Given the description of an element on the screen output the (x, y) to click on. 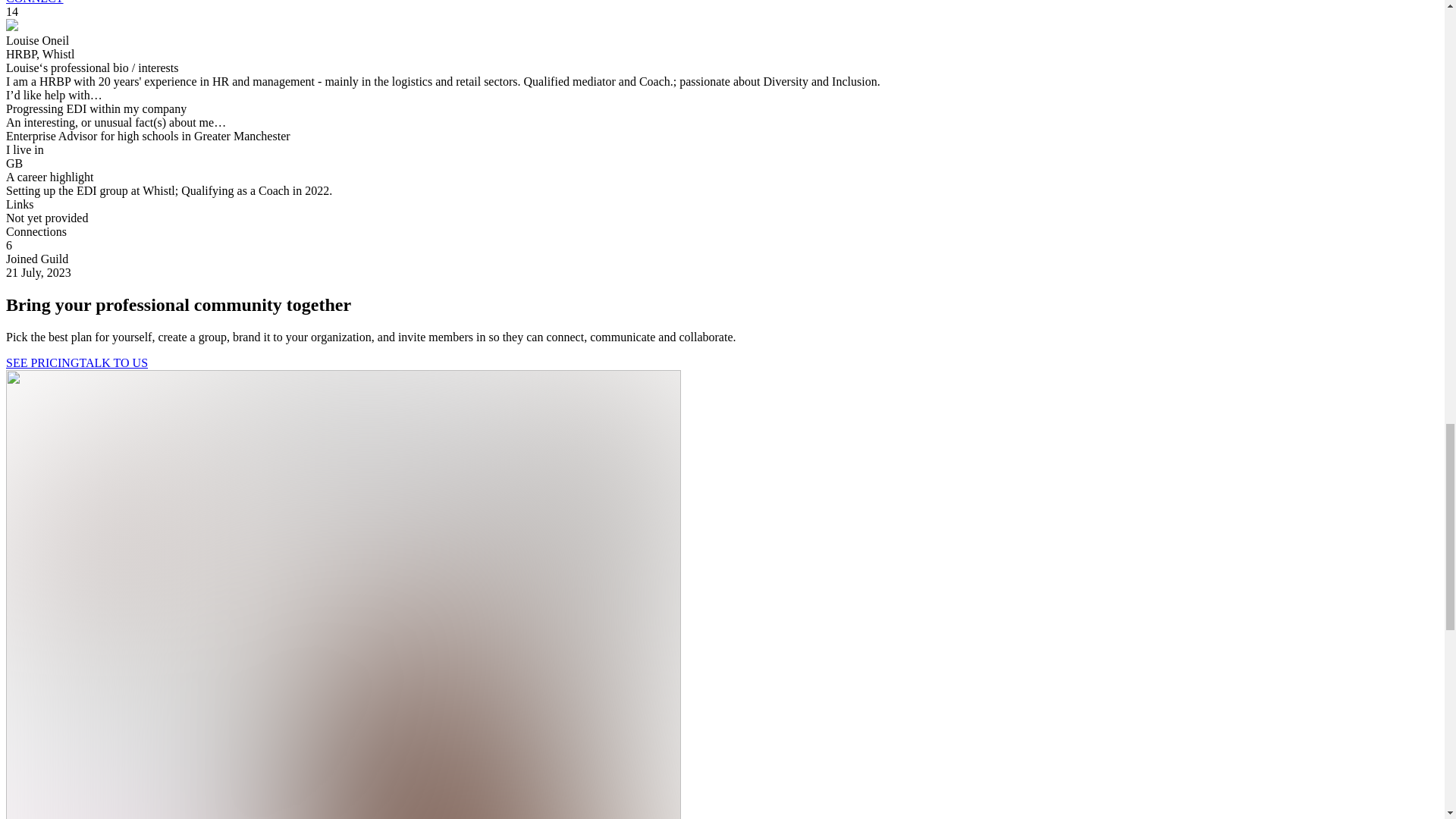
CONNECT (34, 2)
SEE PRICING (41, 362)
TALK TO US (113, 362)
